Given the description of an element on the screen output the (x, y) to click on. 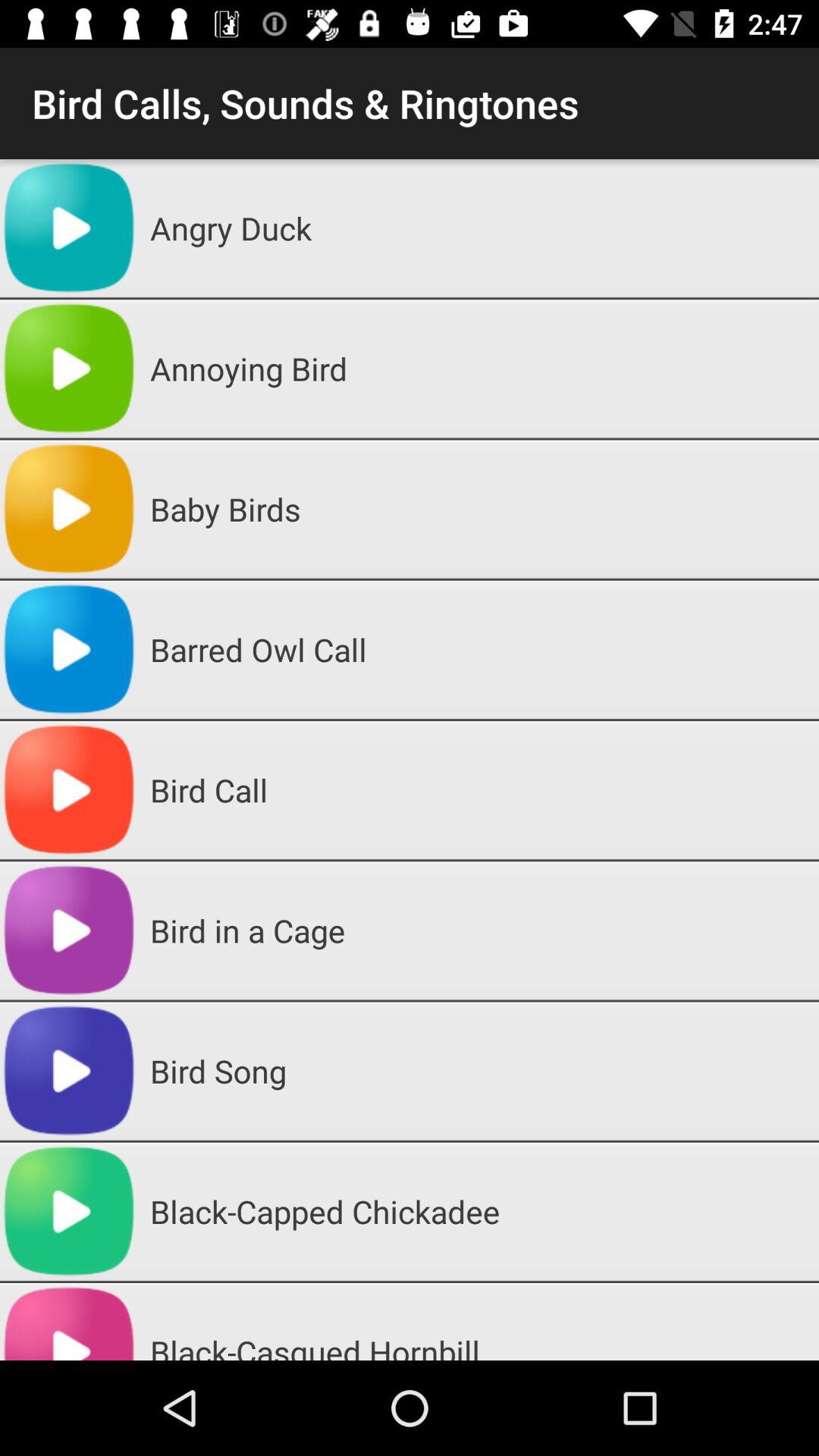
click the black-casqued hornbill app (478, 1321)
